Given the description of an element on the screen output the (x, y) to click on. 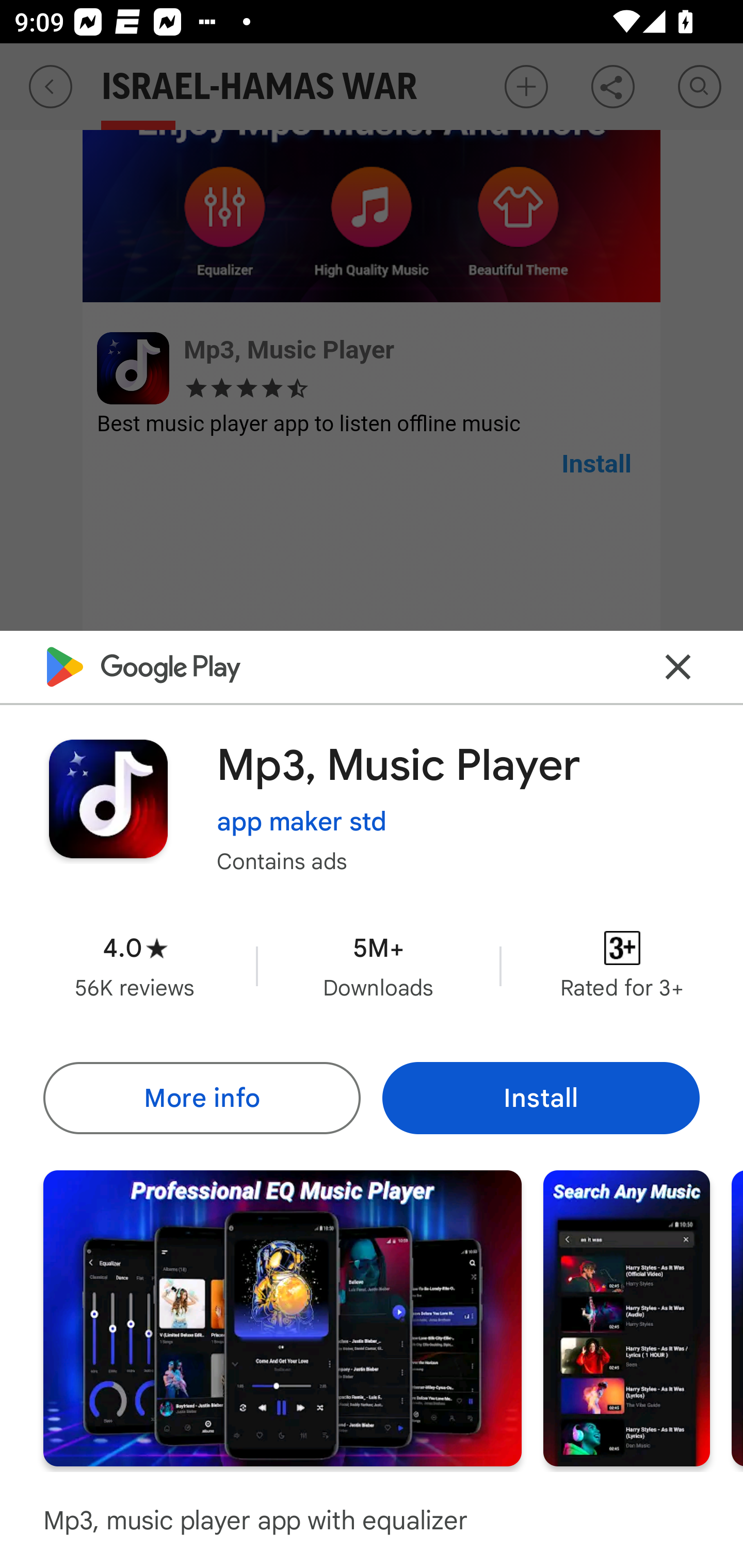
Close (677, 666)
Image of app or game icon for Mp3, Music Player (108, 798)
app maker std (301, 822)
More info (201, 1097)
Install (540, 1097)
Screenshot "1" of "7" (282, 1317)
Screenshot "2" of "7" (626, 1317)
